Given the description of an element on the screen output the (x, y) to click on. 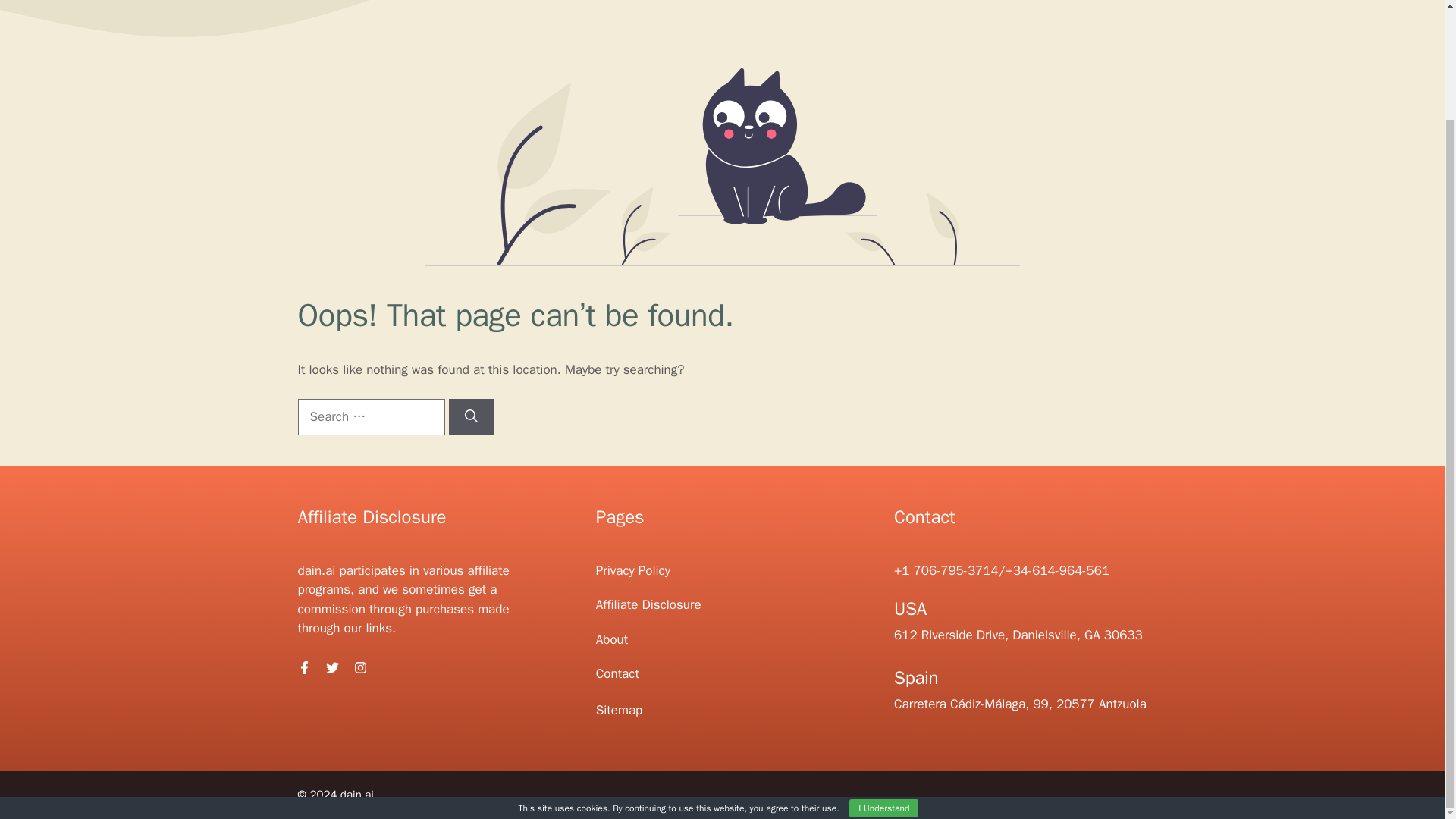
Affiliate Disclosure (648, 604)
Privacy Policy (632, 570)
Sitemap (618, 709)
About (611, 639)
Search for: (370, 416)
Contact (617, 673)
I Understand (883, 679)
